Given the description of an element on the screen output the (x, y) to click on. 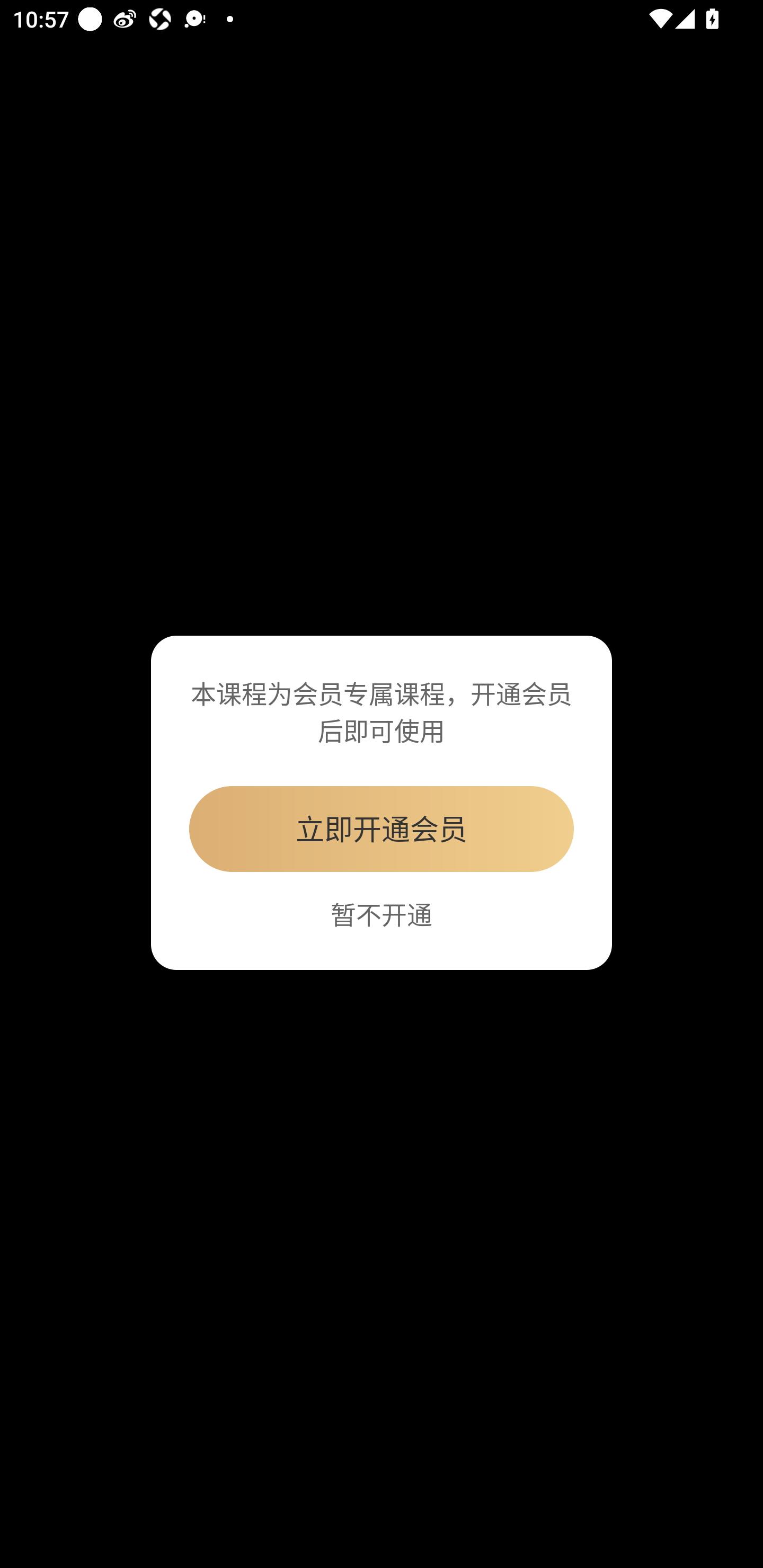
立即开通会员 (381, 828)
暂不开通 (381, 913)
